Given the description of an element on the screen output the (x, y) to click on. 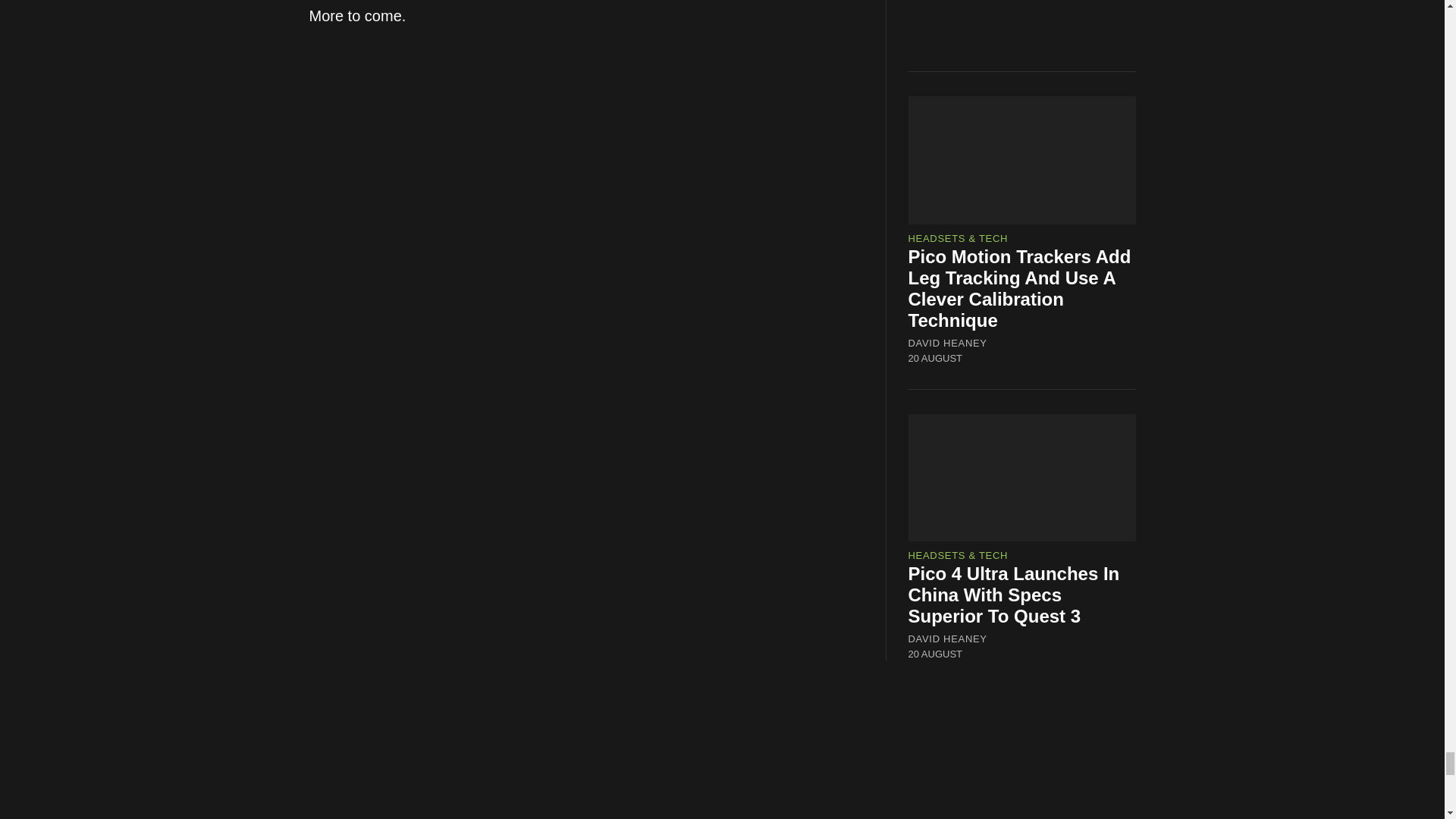
DAVID HEANEY (947, 639)
DAVID HEANEY (947, 342)
